Given the description of an element on the screen output the (x, y) to click on. 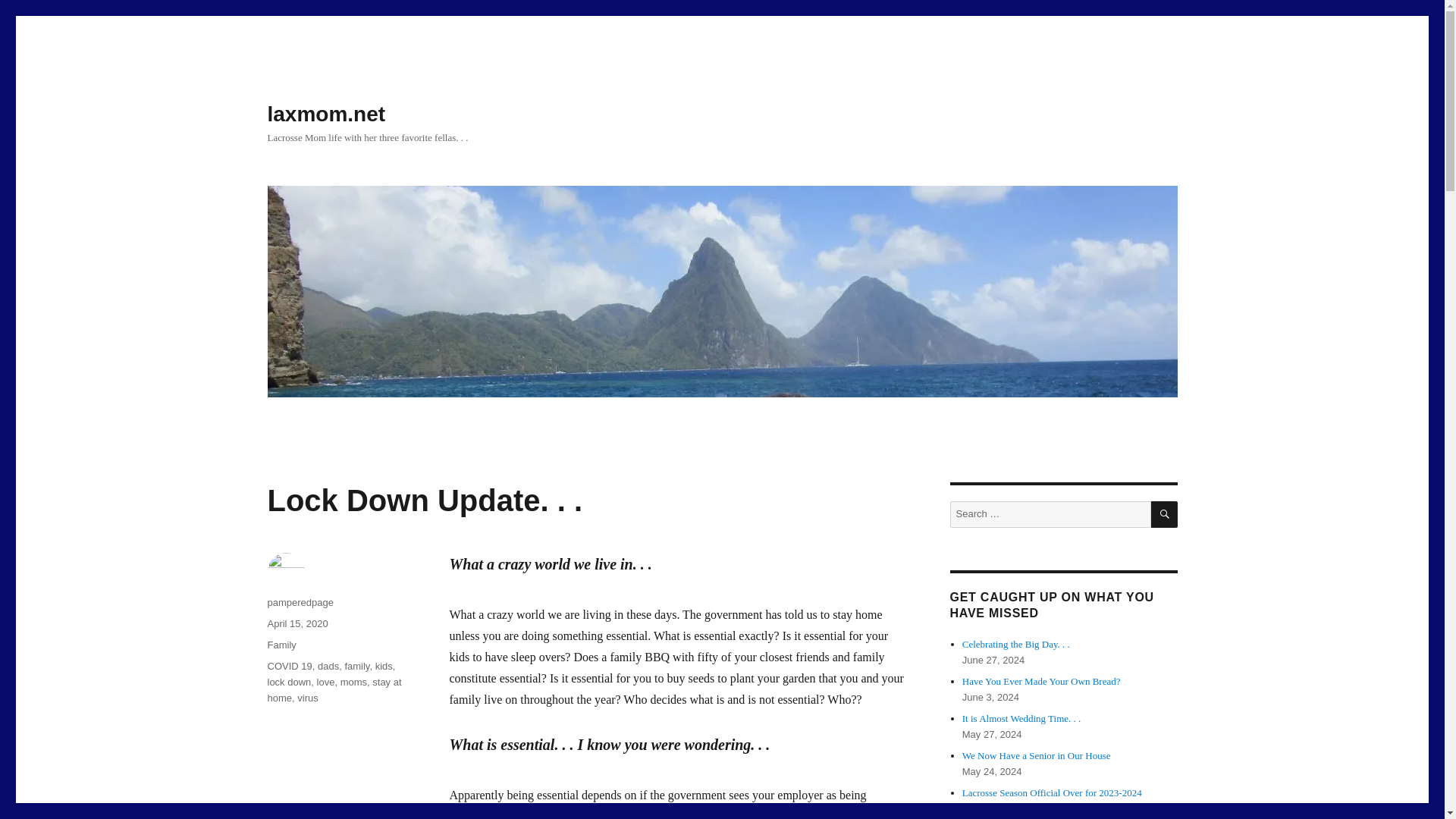
kids (384, 665)
Family (280, 644)
COVID 19 (288, 665)
virus (307, 697)
stay at home (333, 689)
pamperedpage (299, 602)
love (325, 681)
April 15, 2020 (296, 623)
moms (353, 681)
dads (328, 665)
lock down (288, 681)
family (356, 665)
laxmom.net (325, 114)
